Given the description of an element on the screen output the (x, y) to click on. 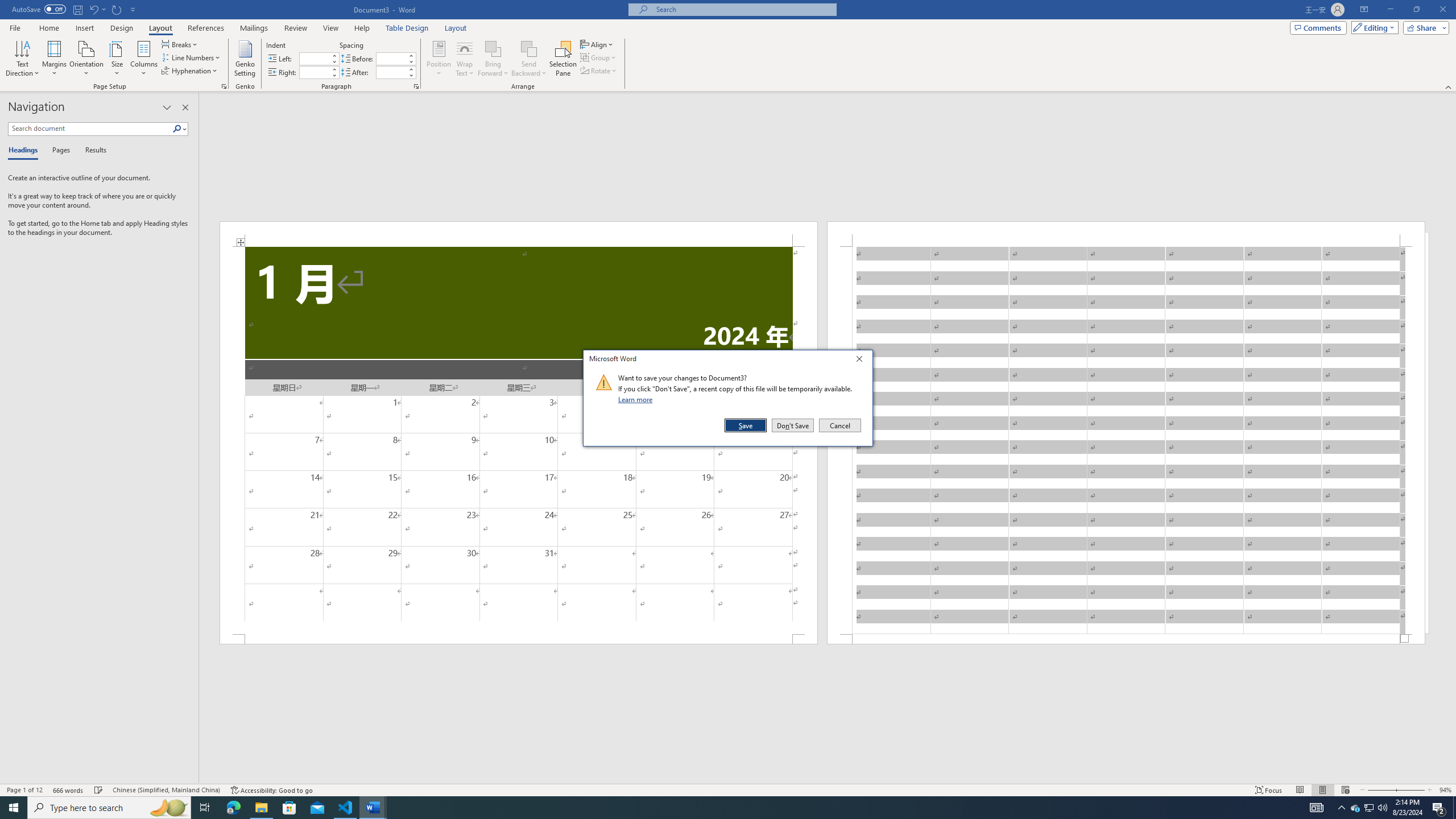
Hyphenation (189, 69)
Breaks (179, 44)
Rotate (599, 69)
